Given the description of an element on the screen output the (x, y) to click on. 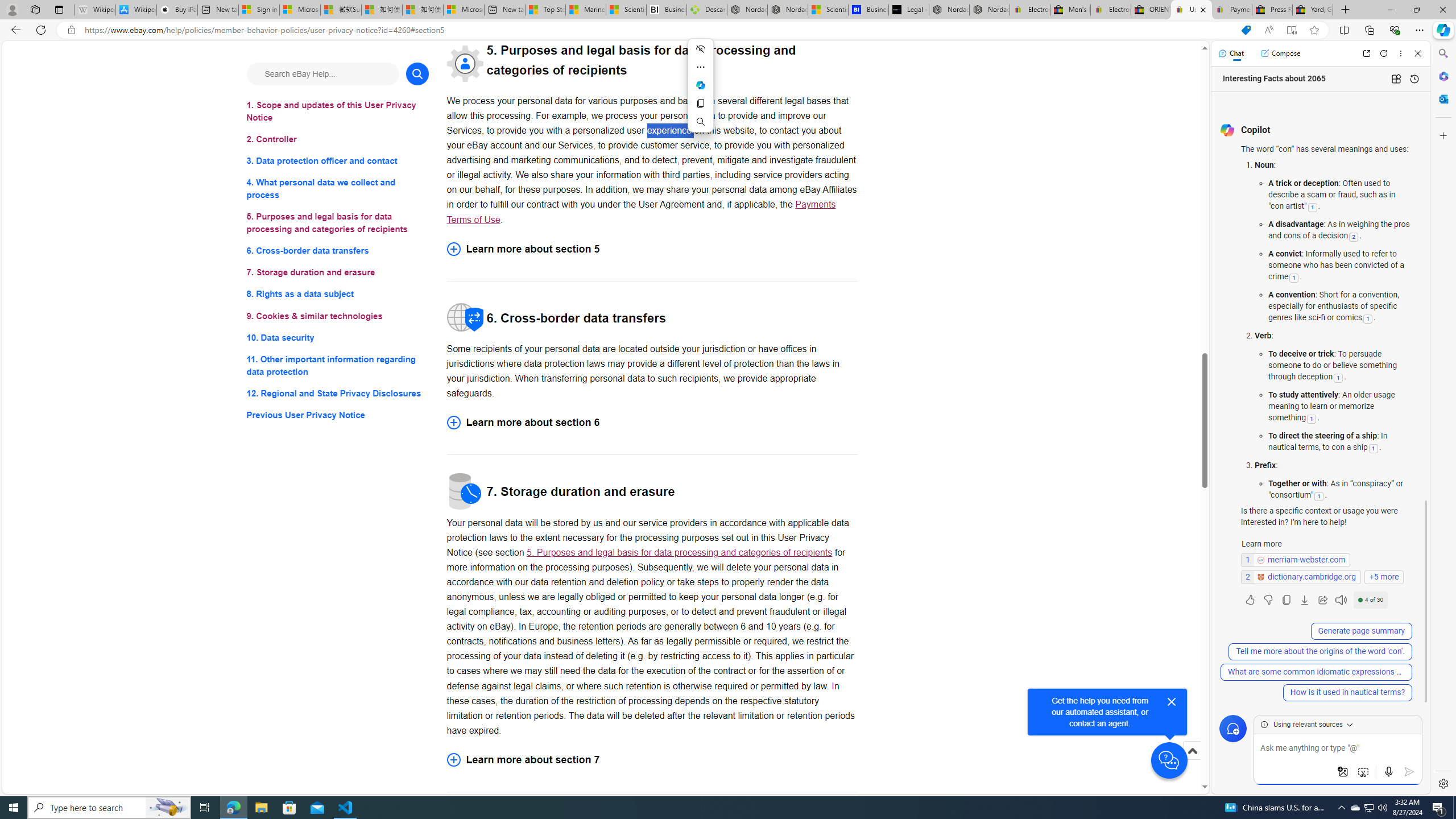
Chat (1231, 52)
Search eBay Help... (322, 73)
2. Controller (337, 138)
10. Data security (337, 336)
8. Rights as a data subject (337, 293)
9. Cookies & similar technologies (337, 315)
6. Cross-border data transfers (337, 250)
